Given the description of an element on the screen output the (x, y) to click on. 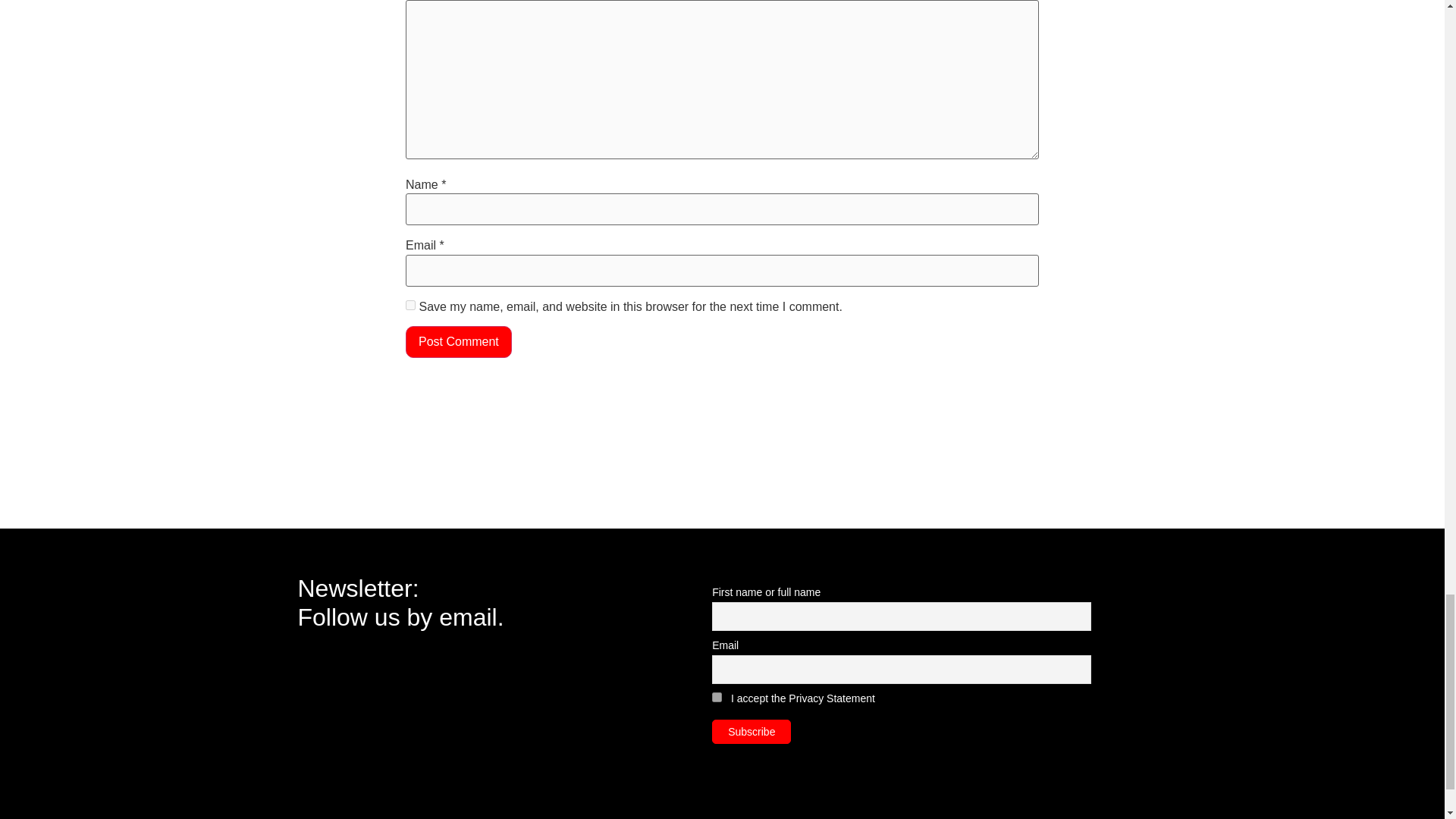
Post Comment (459, 341)
Subscribe (750, 731)
Subscribe (750, 731)
I accept the Privacy Statement (802, 698)
on (716, 696)
Post Comment (459, 341)
yes (410, 305)
